Given the description of an element on the screen output the (x, y) to click on. 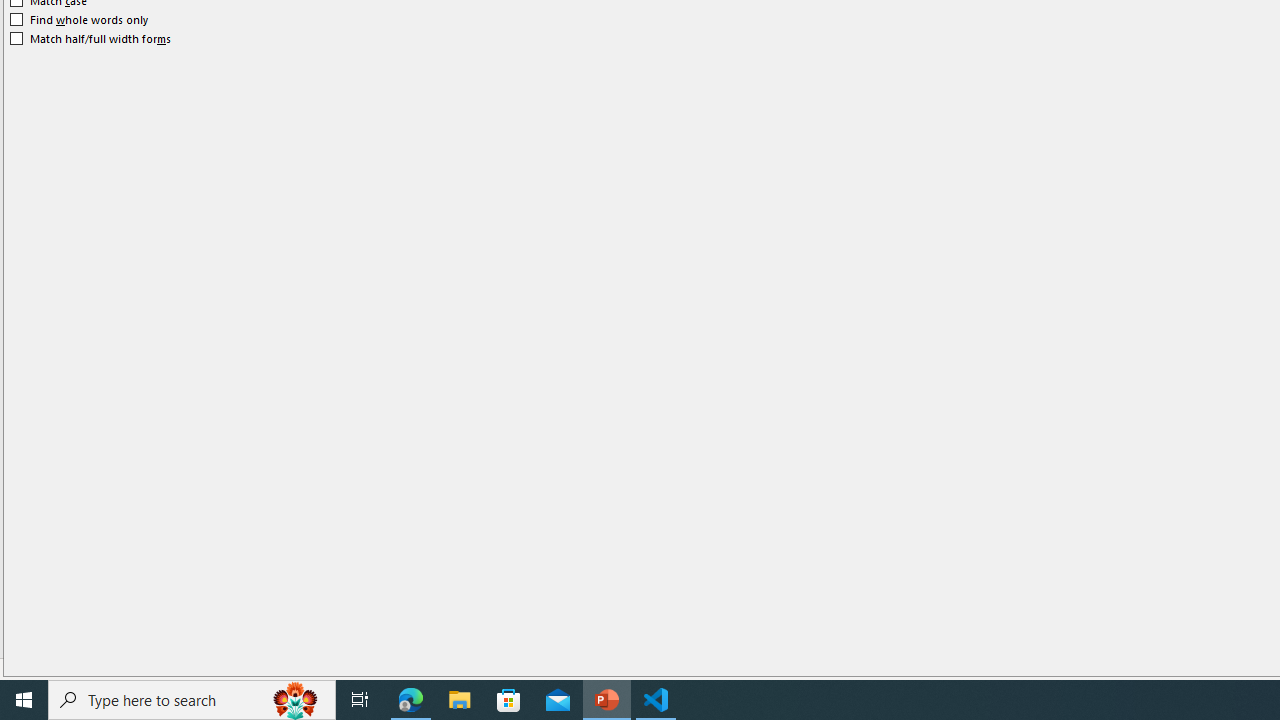
Accessibility Checker Accessibility: Good to go (397, 668)
Find whole words only (79, 20)
Match half/full width forms (91, 38)
